Given the description of an element on the screen output the (x, y) to click on. 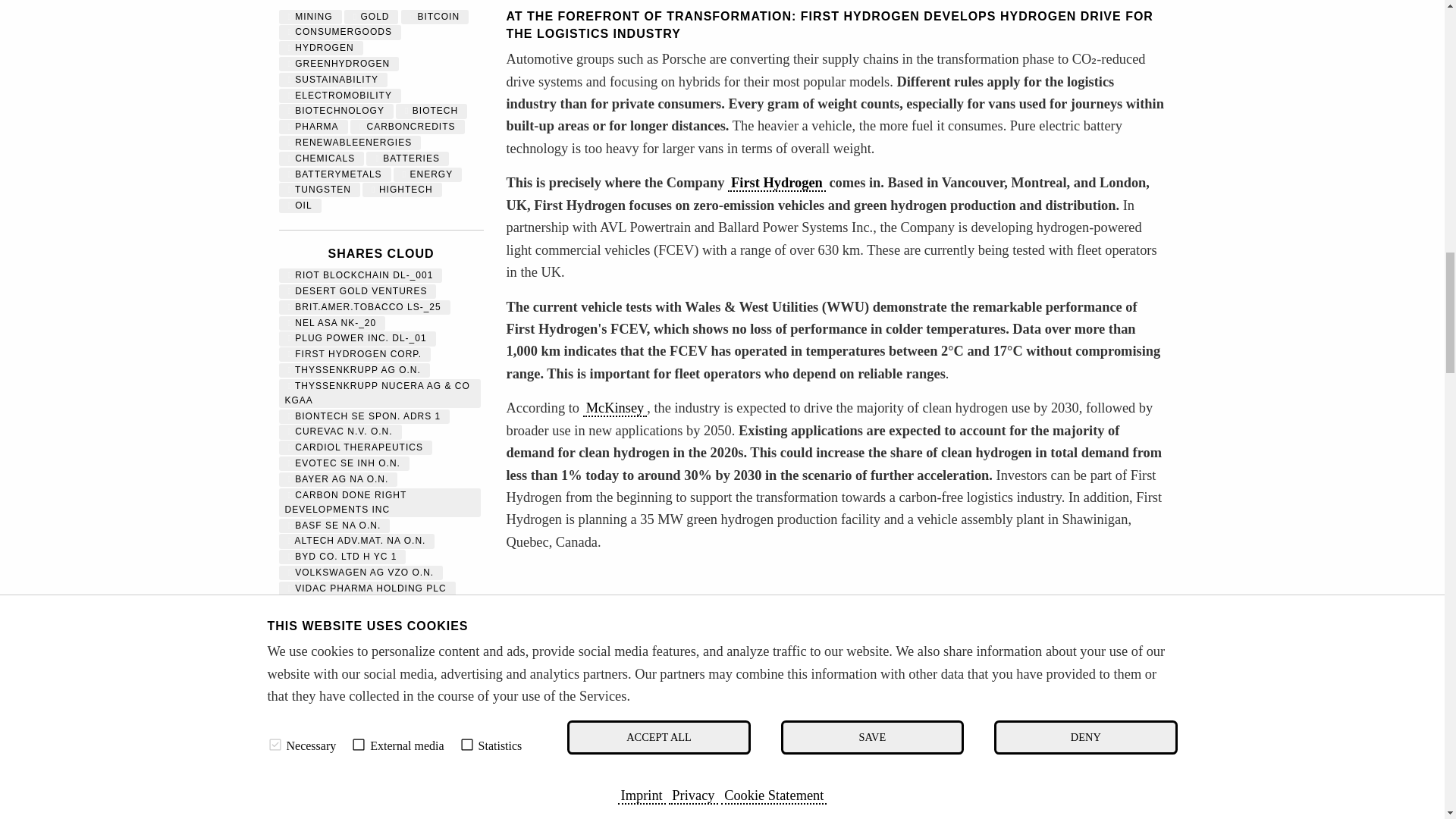
GREENHYDROGEN (339, 63)
HYDROGEN (320, 47)
PHARMA (313, 126)
ELECTROMOBILITY (339, 95)
MINING (310, 16)
BIOTECHNOLOGY (336, 110)
CARBONCREDITS (407, 126)
CHEMICALS (321, 158)
RENEWABLEENERGIES (349, 142)
SUSTAINABILITY (333, 79)
GOLD (371, 16)
BITCOIN (435, 16)
YouTube video player (718, 684)
CONSUMERGOODS (339, 31)
BIOTECH (431, 110)
